Given the description of an element on the screen output the (x, y) to click on. 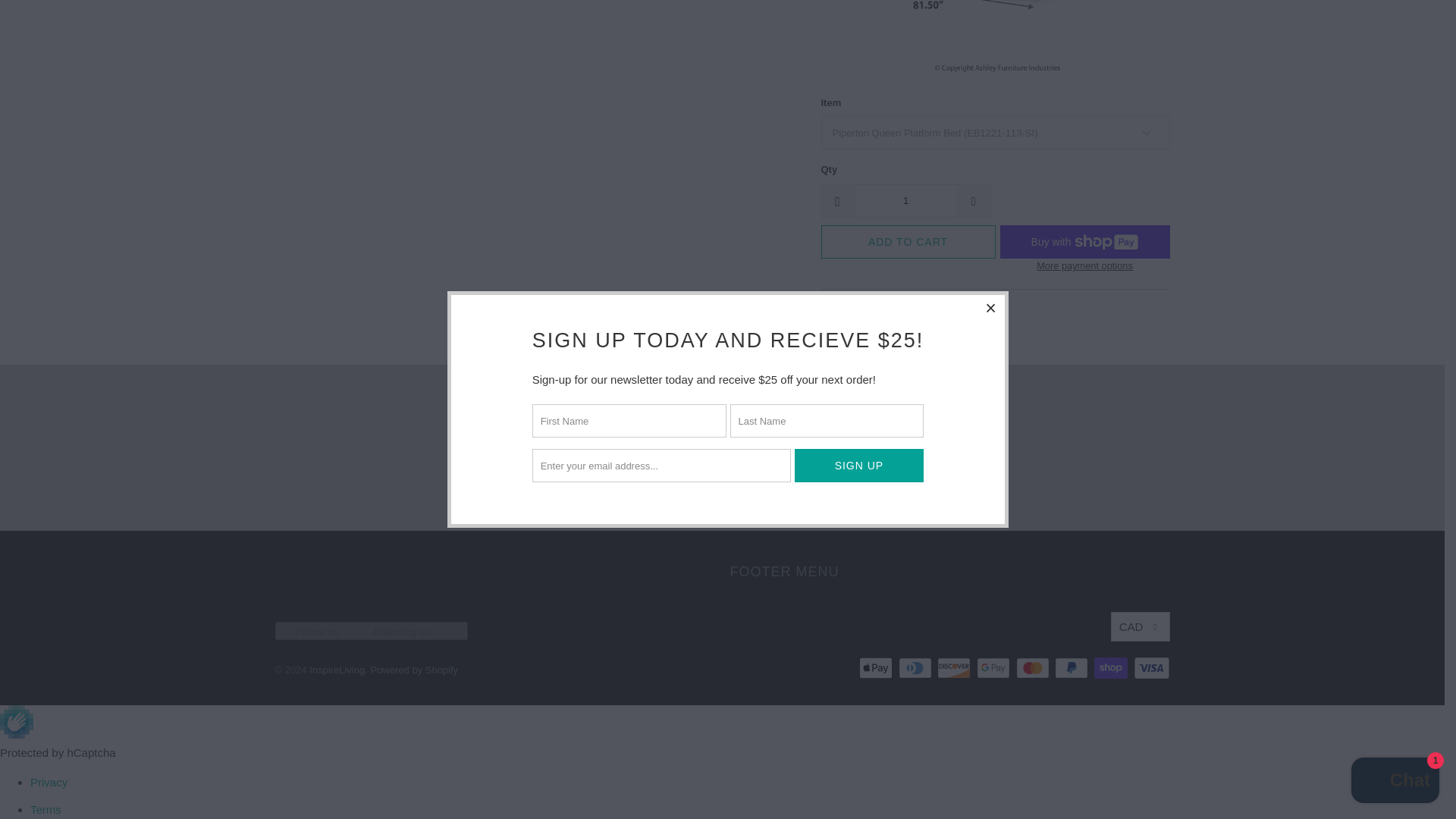
Diners Club (916, 667)
Discover (955, 667)
PayPal (1072, 667)
Apple Pay (877, 667)
Mastercard (1034, 667)
Shop Pay (1112, 667)
Google Pay (994, 667)
Visa (1150, 667)
